Given the description of an element on the screen output the (x, y) to click on. 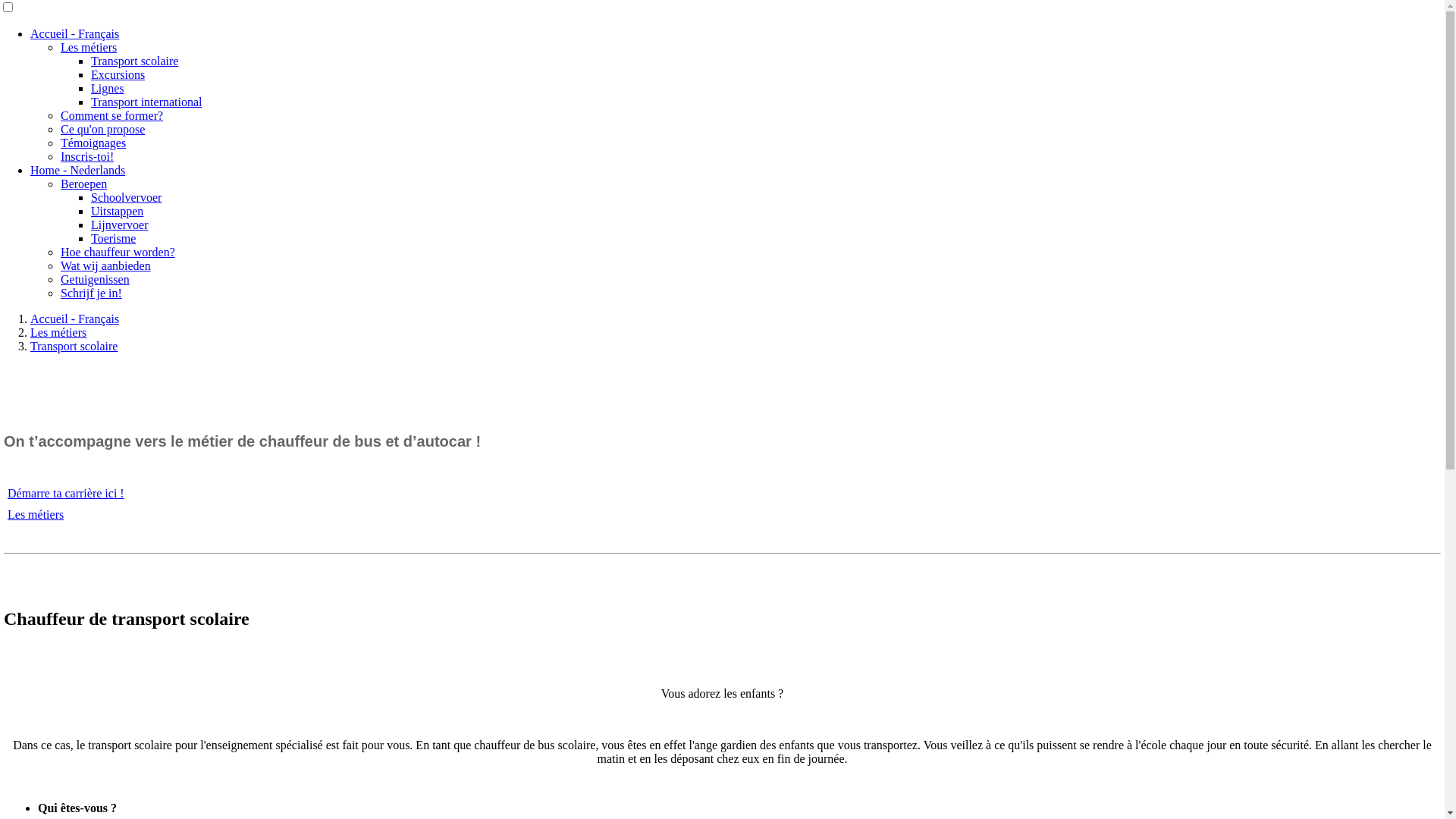
Uitstappen Element type: text (117, 210)
Lignes Element type: text (107, 87)
Home - Nederlands Element type: text (77, 169)
Beroepen Element type: text (83, 183)
Schrijf je in! Element type: text (91, 292)
Wat wij aanbieden Element type: text (105, 265)
Transport scolaire Element type: text (134, 60)
Ce qu'on propose Element type: text (102, 128)
Toerisme Element type: text (113, 238)
Inscris-toi! Element type: text (86, 156)
Lijnvervoer Element type: text (119, 224)
Getuigenissen Element type: text (94, 279)
Hoe chauffeur worden? Element type: text (117, 251)
Transport scolaire Element type: text (73, 345)
Transport international Element type: text (146, 101)
Excursions Element type: text (117, 74)
Comment se former? Element type: text (111, 115)
Schoolvervoer Element type: text (126, 197)
